Given the description of an element on the screen output the (x, y) to click on. 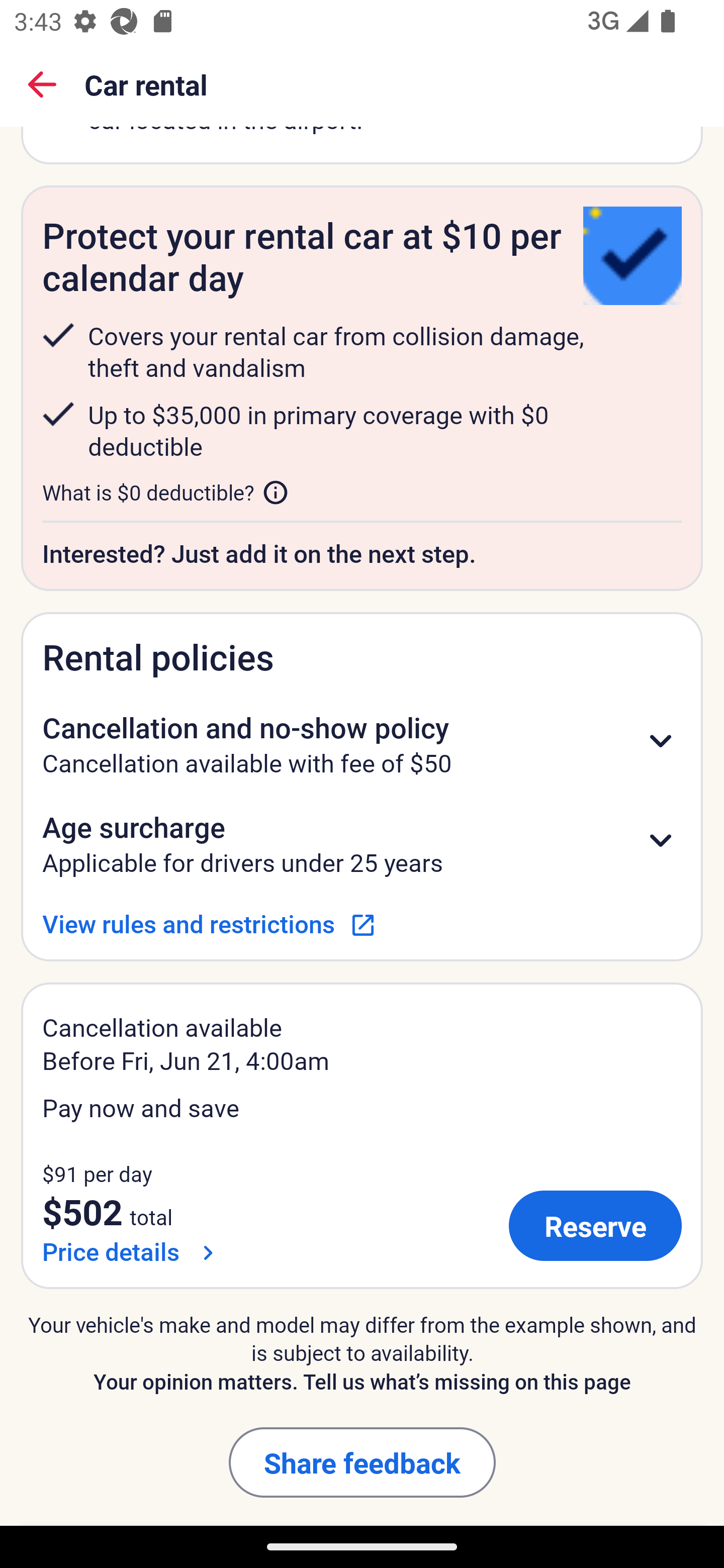
Go back to car rental search results (42, 84)
What is $0 deductible? (165, 492)
Reserve (595, 1225)
Price details Price details Link (131, 1250)
Share feedback (361, 1462)
